Given the description of an element on the screen output the (x, y) to click on. 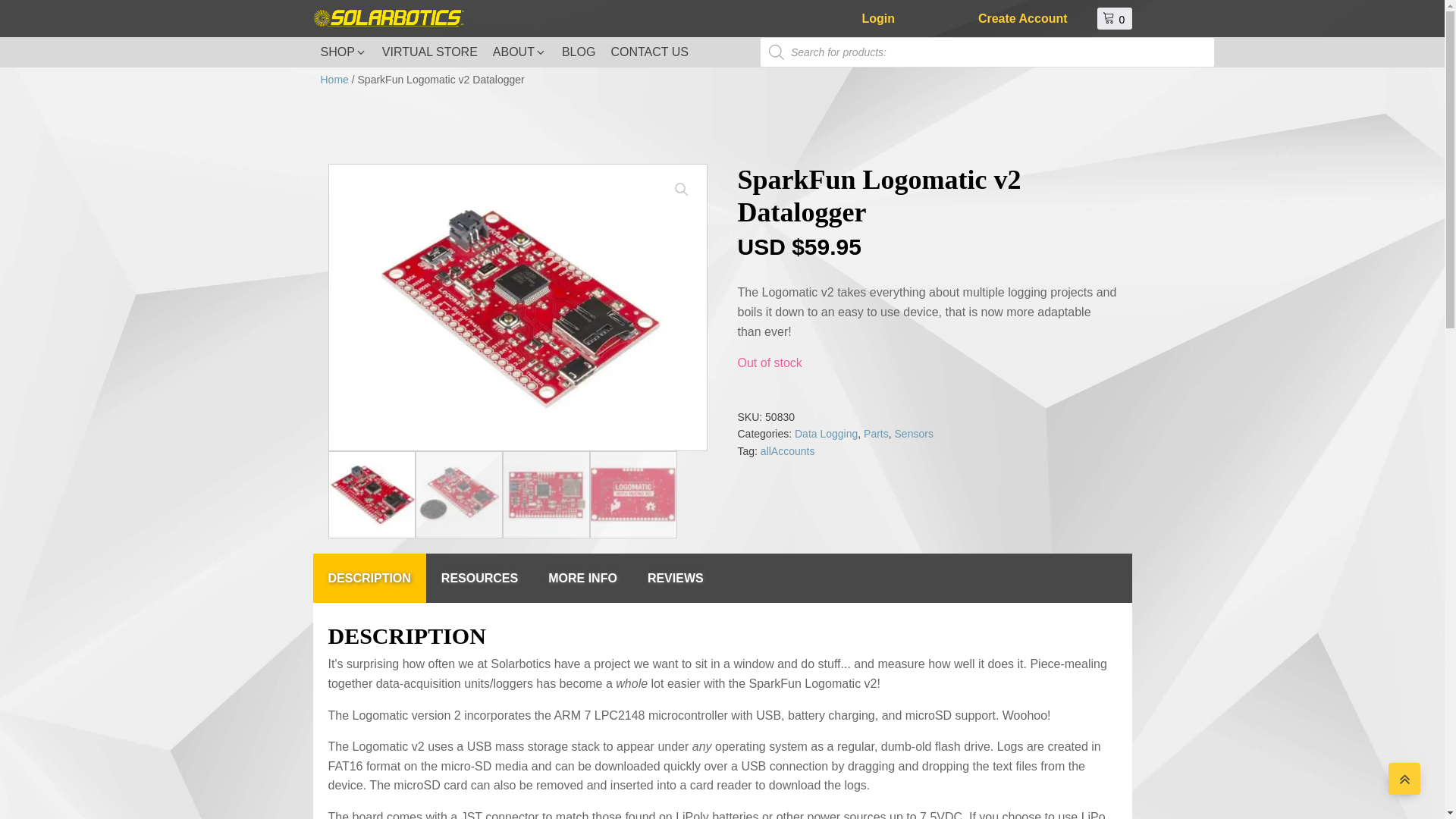
Create Account (1022, 18)
Login (878, 18)
Go to Cart (1115, 19)
SHOP (343, 52)
50830-12772-01 (517, 307)
50830-12772-04 (895, 307)
